Given the description of an element on the screen output the (x, y) to click on. 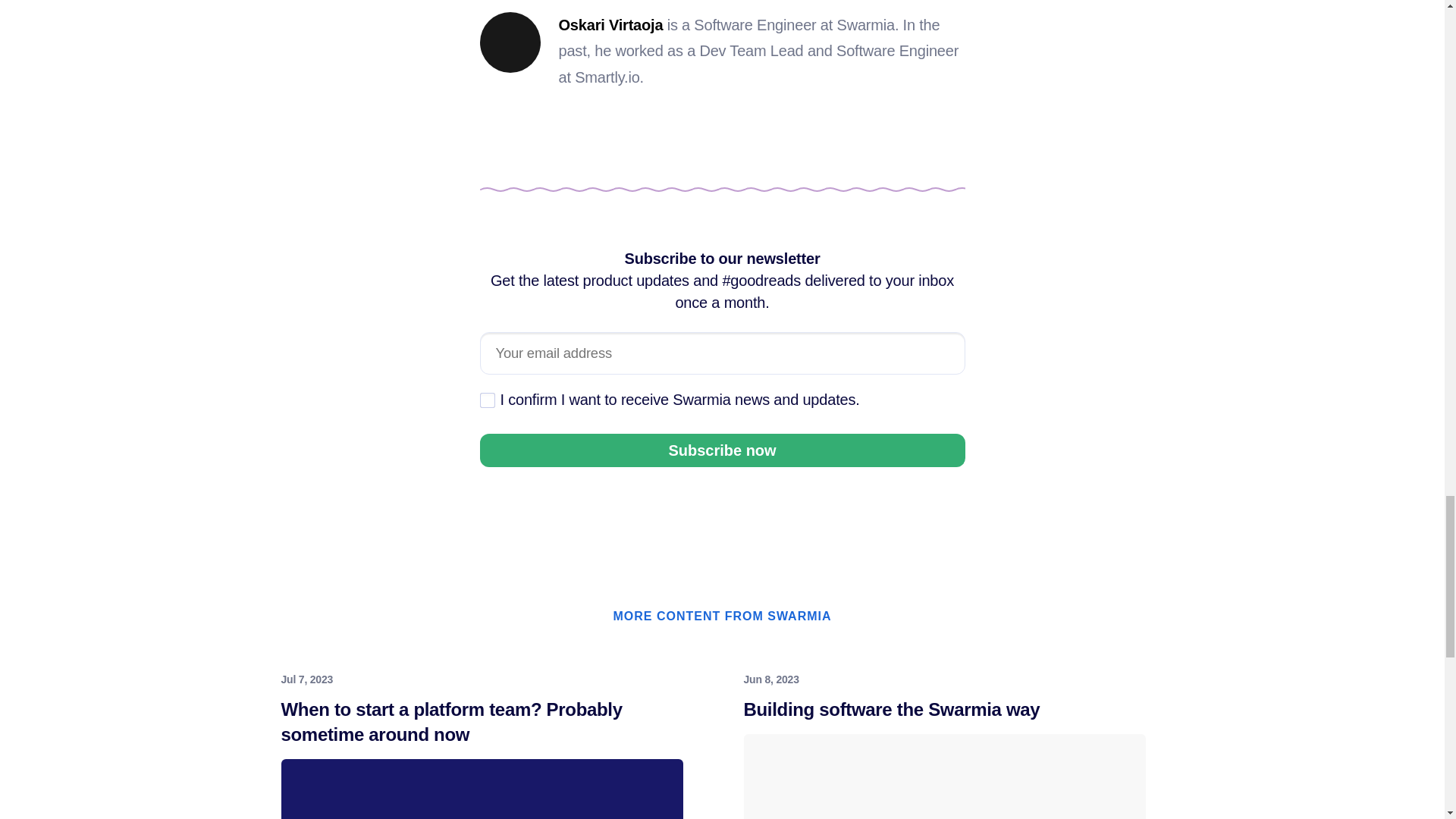
on (487, 400)
